Given the description of an element on the screen output the (x, y) to click on. 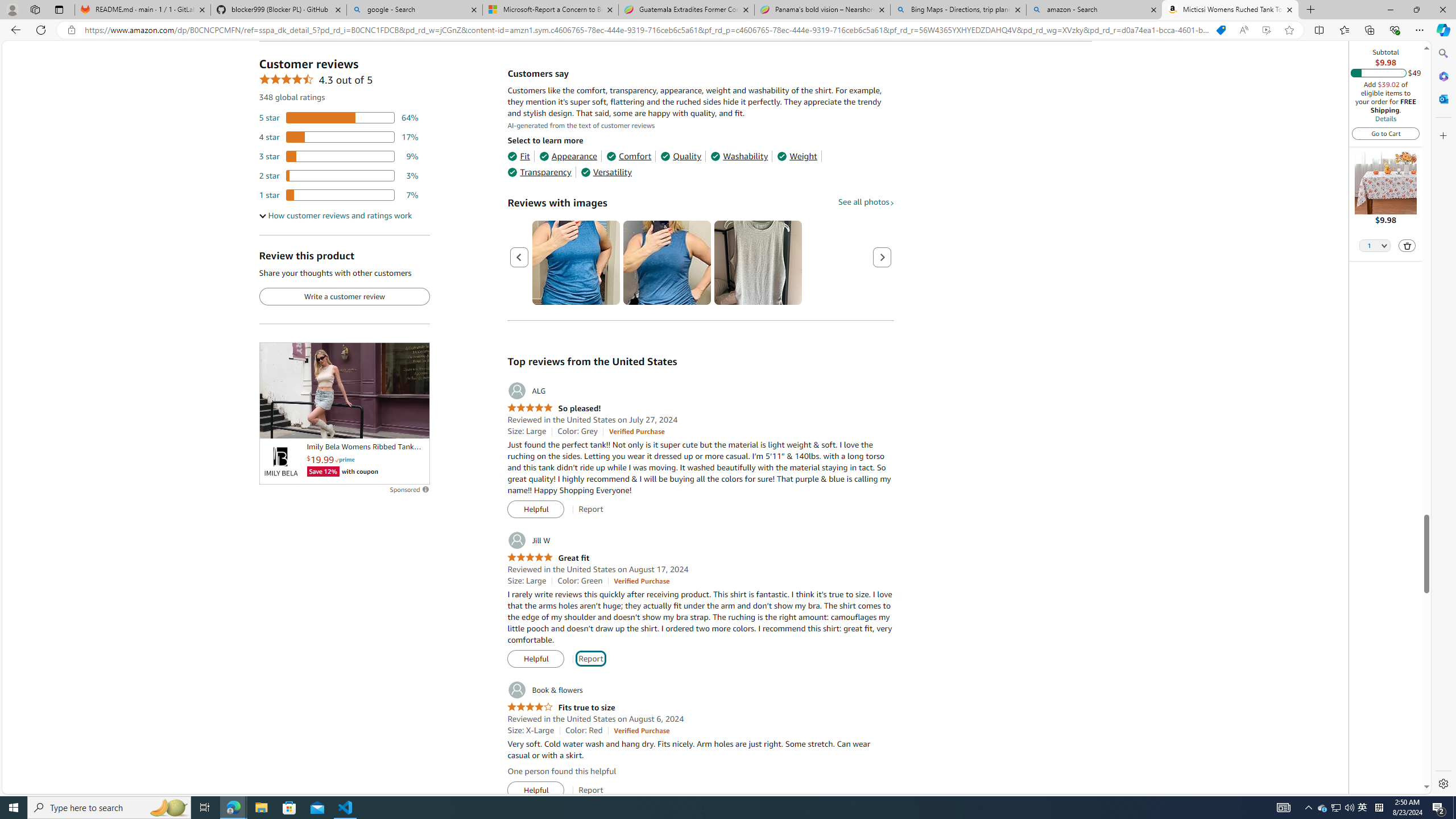
Shopping in Microsoft Edge (1220, 29)
Customize (1442, 135)
Write a customer review (344, 296)
Transparency (539, 172)
Microsoft 365 (1442, 76)
Previous page (518, 256)
